Given the description of an element on the screen output the (x, y) to click on. 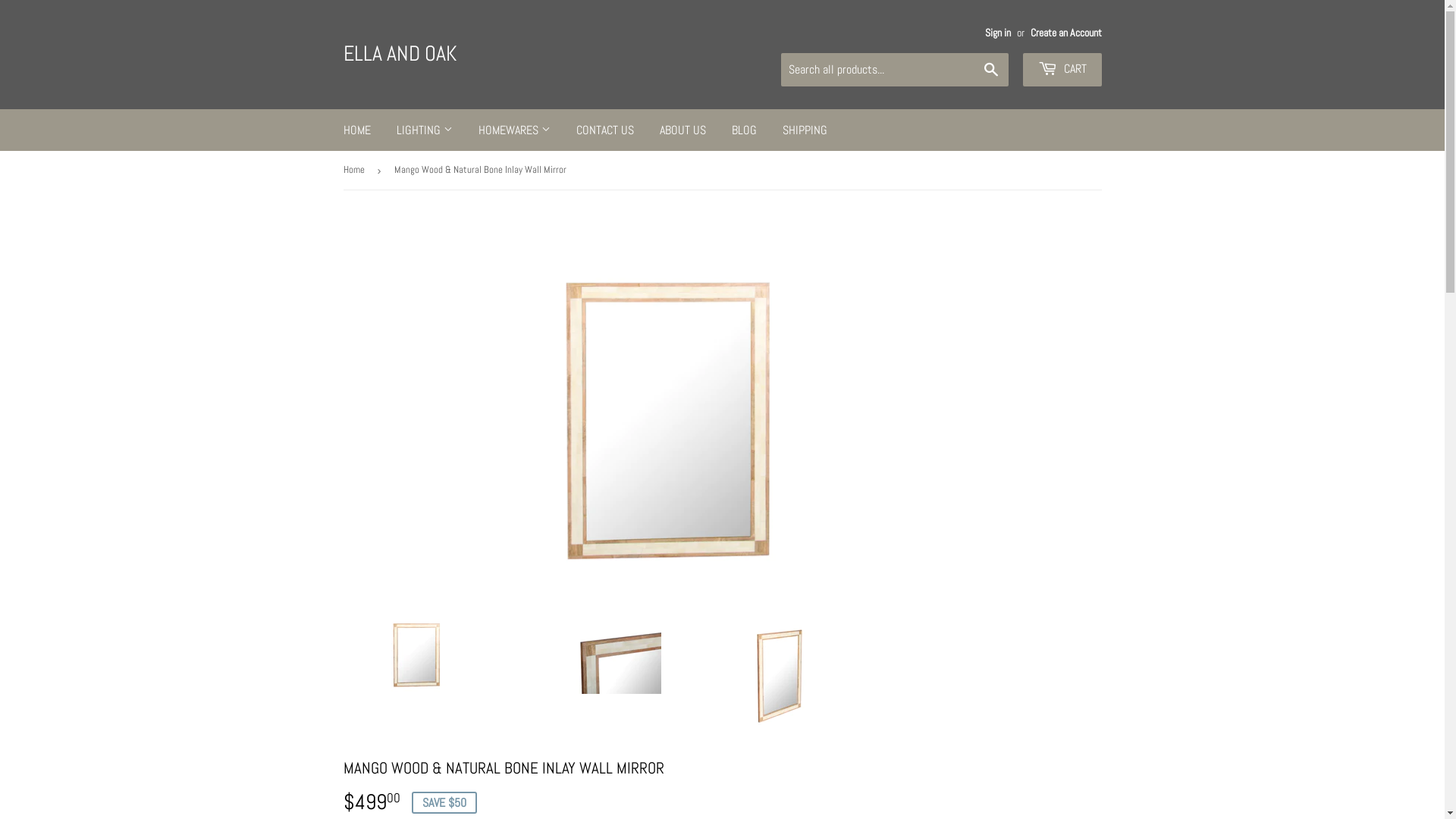
Create an Account Element type: text (1065, 32)
HOME Element type: text (357, 130)
Sign in Element type: text (997, 32)
Search Element type: text (990, 70)
CART Element type: text (1061, 69)
SHIPPING Element type: text (803, 130)
LIGHTING Element type: text (424, 130)
Home Element type: text (355, 169)
CONTACT US Element type: text (604, 130)
ABOUT US Element type: text (681, 130)
HOMEWARES Element type: text (514, 130)
BLOG Element type: text (744, 130)
ELLA AND OAK Element type: text (531, 54)
